Given the description of an element on the screen output the (x, y) to click on. 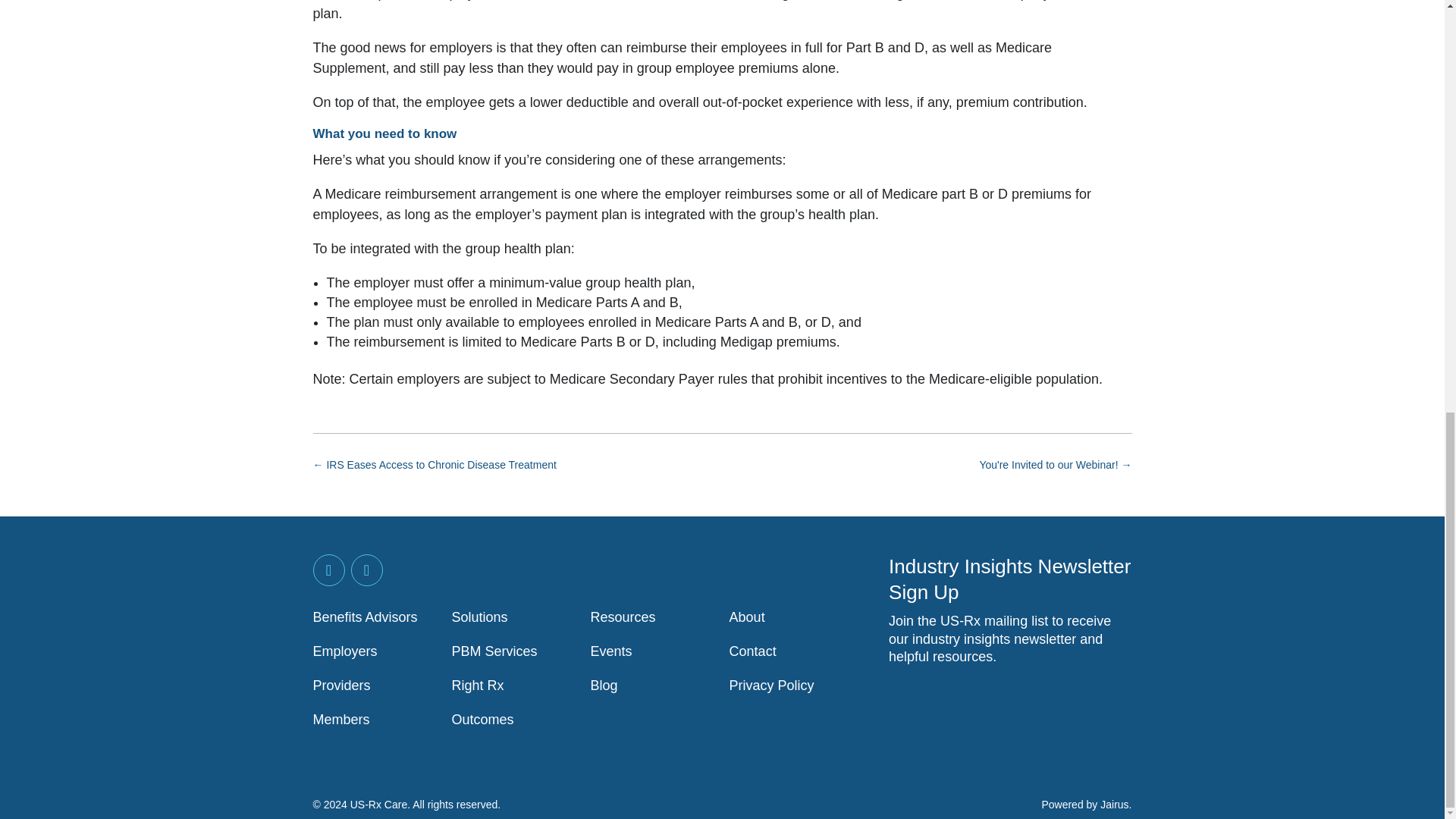
Solutions (479, 616)
Follow on Facebook (365, 570)
Providers (341, 685)
Follow on LinkedIn (328, 570)
PBM Services (494, 651)
Resources (623, 616)
About (747, 616)
Members (341, 719)
Privacy Policy (771, 685)
Contact (752, 651)
